Given the description of an element on the screen output the (x, y) to click on. 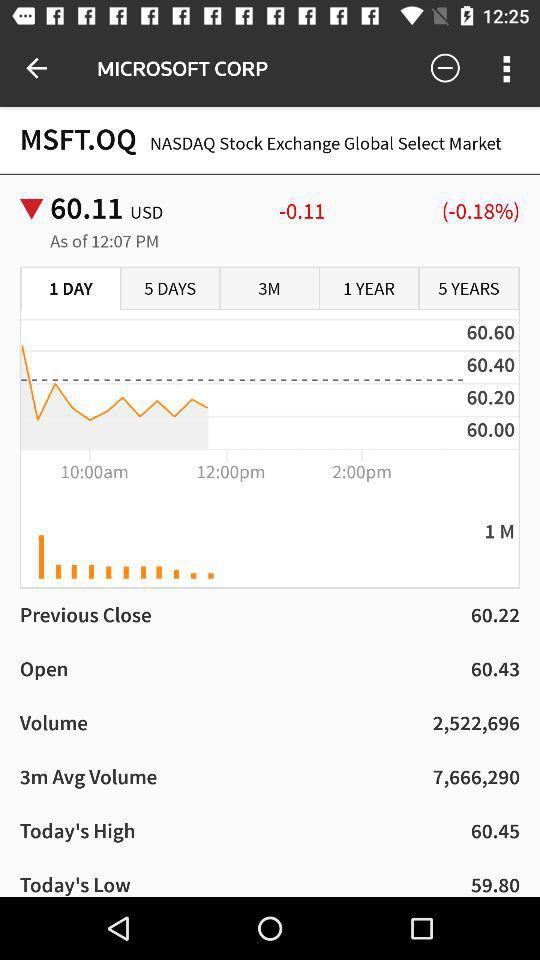
turn off the icon next to 1 year item (468, 289)
